Given the description of an element on the screen output the (x, y) to click on. 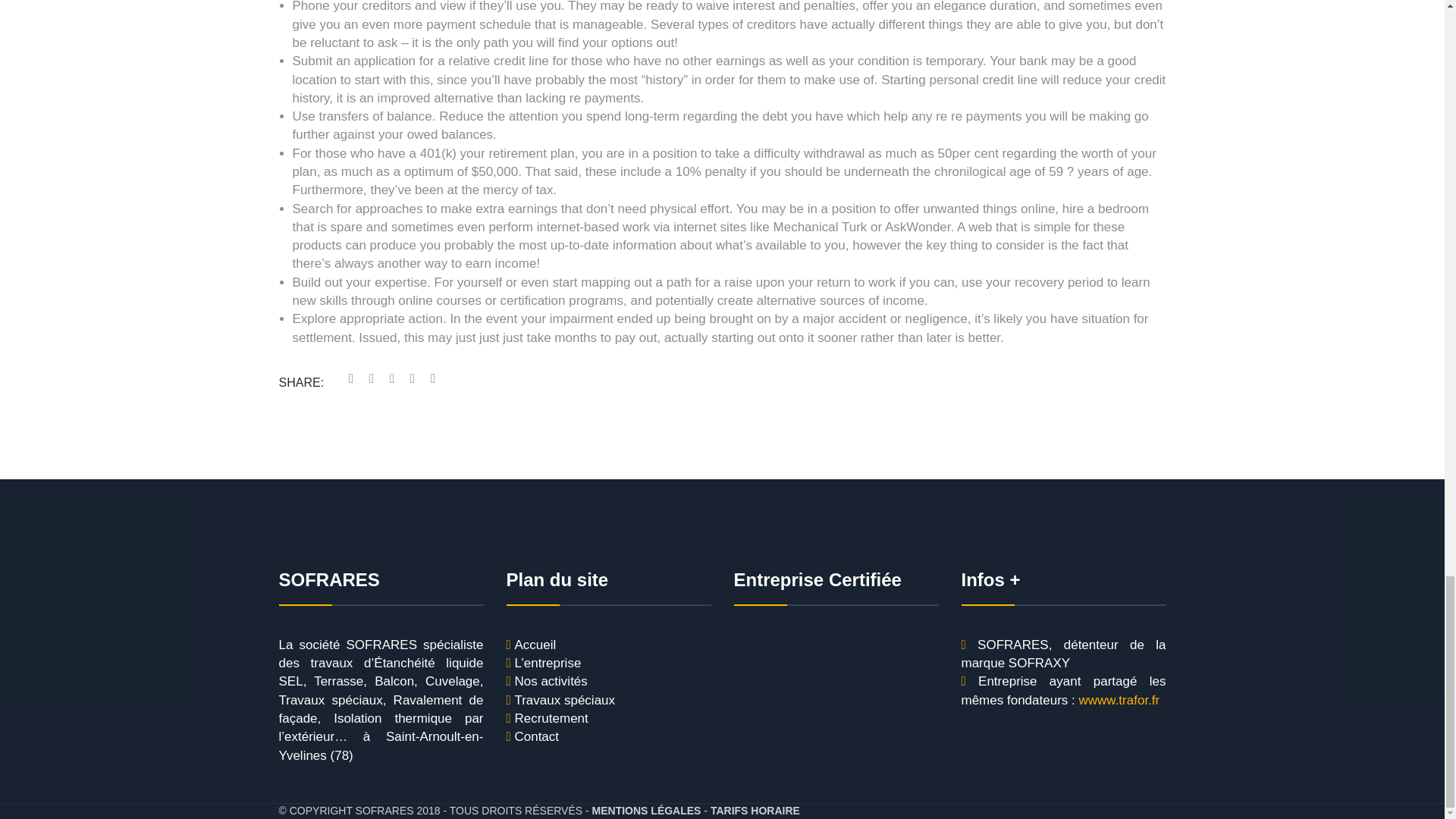
wwww.trafor.fr (1118, 700)
Accueil (534, 645)
Contact (536, 737)
Recrutement (550, 719)
